Given the description of an element on the screen output the (x, y) to click on. 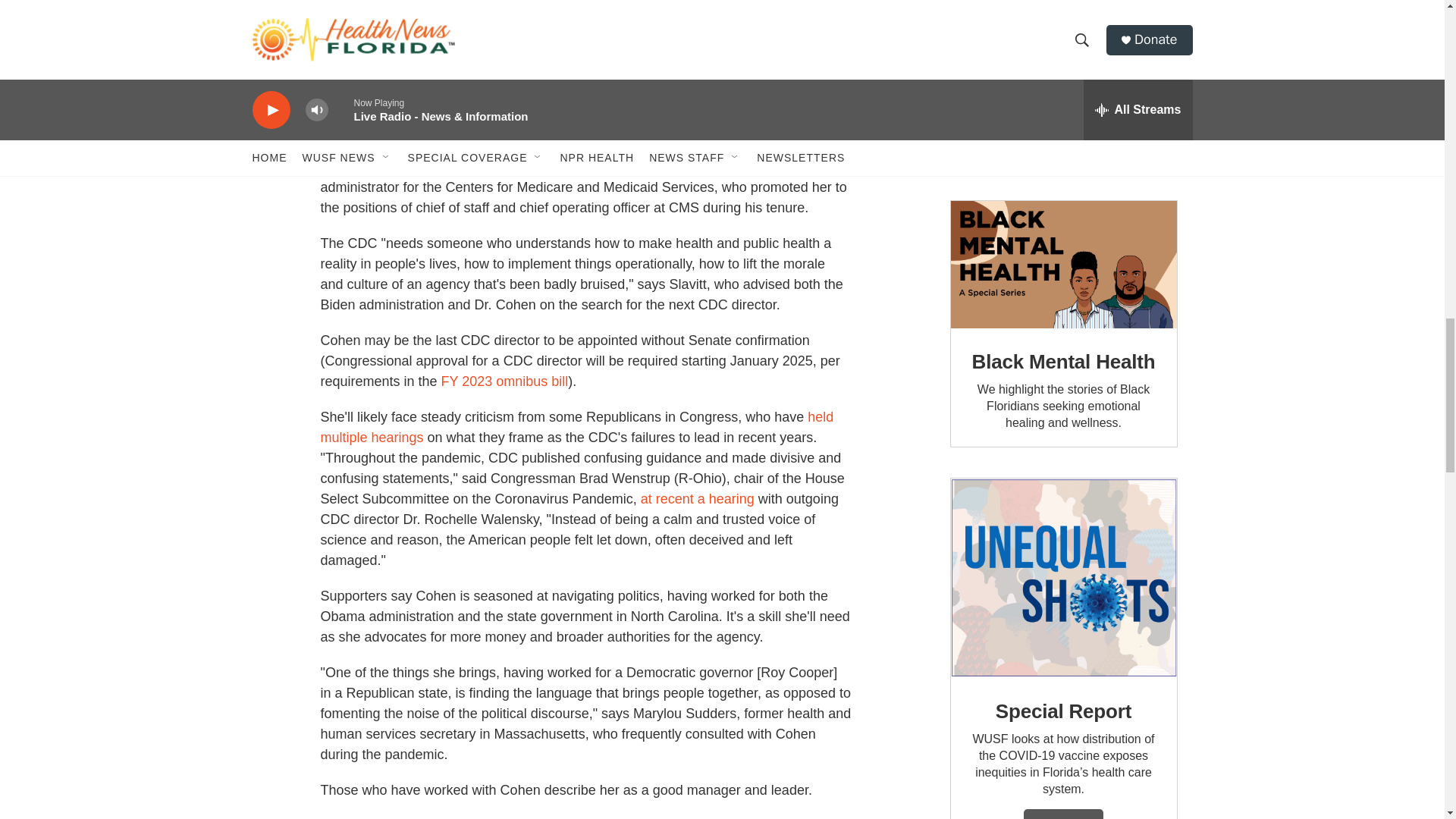
3rd party ad content (1062, 84)
